Given the description of an element on the screen output the (x, y) to click on. 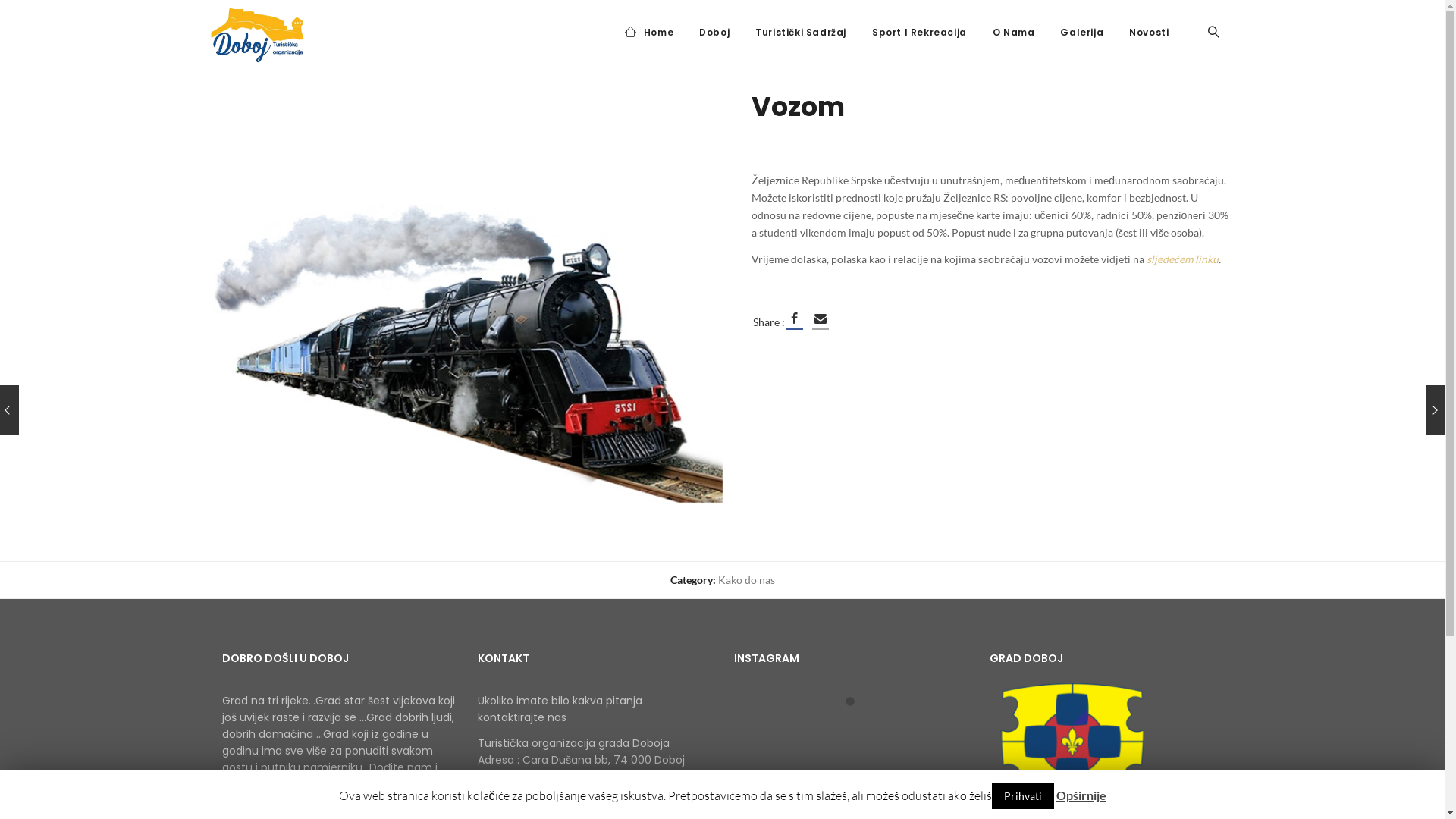
Galerija Element type: text (1081, 32)
Sport I Rekreacija Element type: text (919, 32)
Share on Facebook! Element type: hover (793, 318)
Prihvati Element type: text (1022, 796)
Kako do nas Element type: text (745, 579)
Doboj Element type: text (714, 32)
O Nama Element type: text (1013, 32)
Novosti Element type: text (1148, 32)
Share by Mail! Element type: hover (819, 318)
Home Element type: text (647, 32)
